Given the description of an element on the screen output the (x, y) to click on. 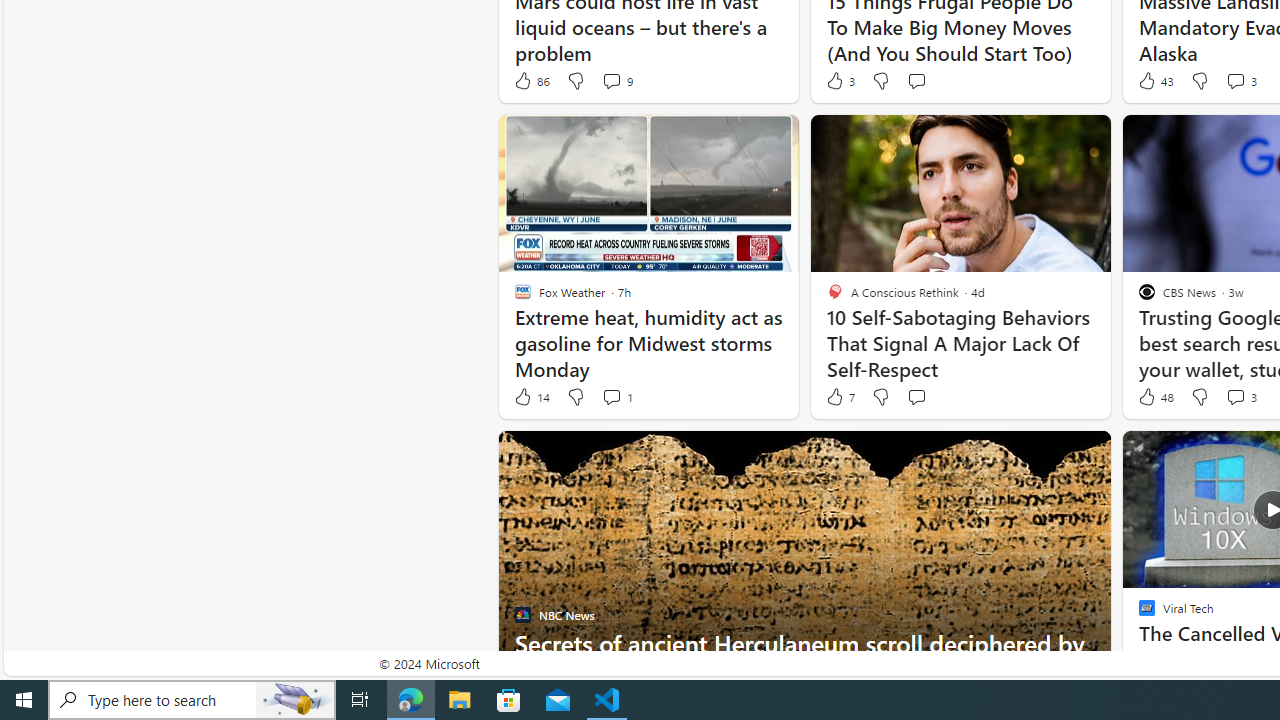
Hide this story (1050, 454)
14 Like (531, 397)
View comments 3 Comment (1234, 396)
48 Like (1154, 397)
7 Like (839, 397)
View comments 9 Comment (611, 80)
View comments 1 Comment (611, 396)
3 Like (839, 80)
43 Like (1154, 80)
View comments 3 Comment (1240, 397)
